Given the description of an element on the screen output the (x, y) to click on. 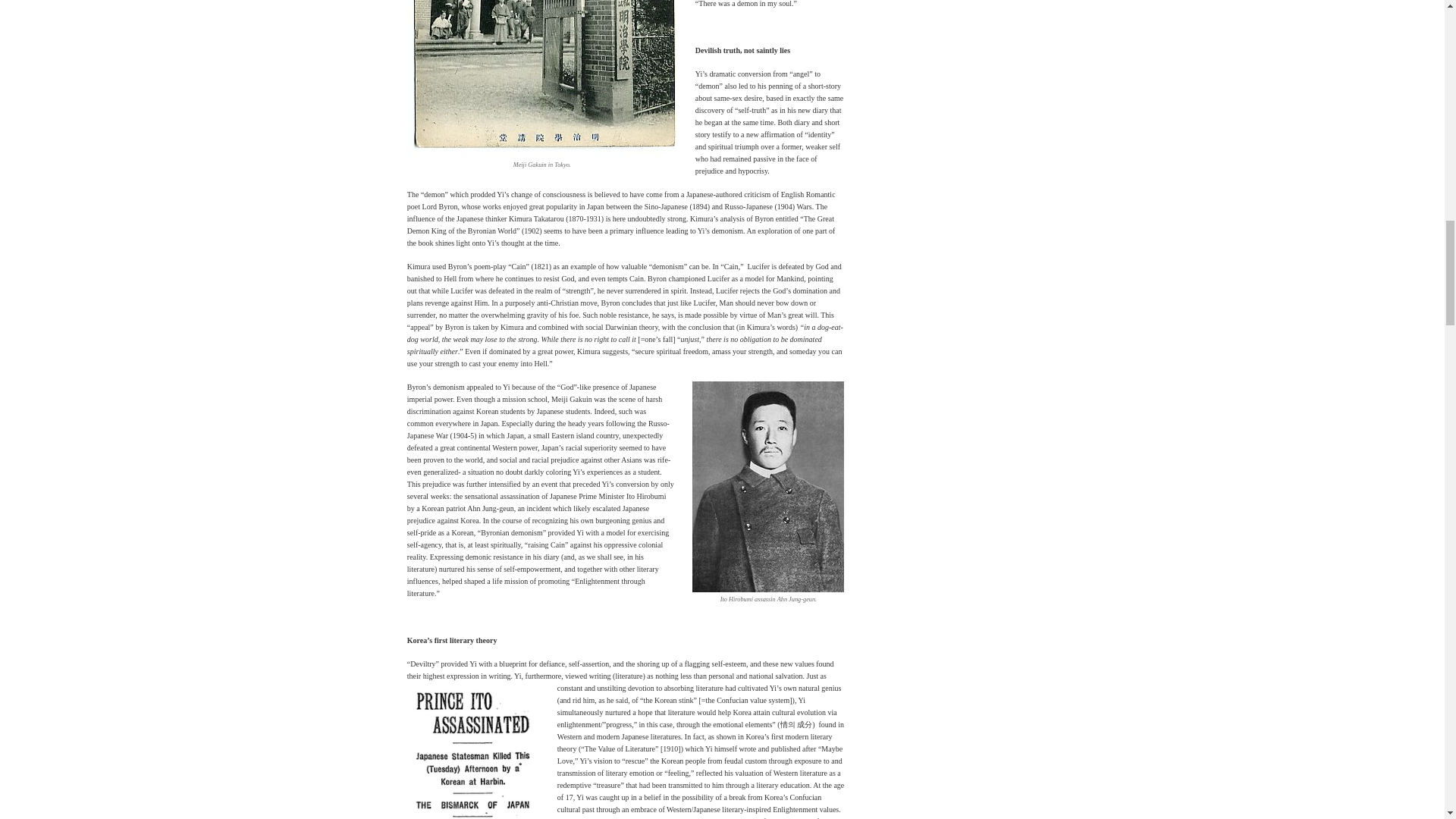
ito (472, 750)
MGK (542, 79)
